Given the description of an element on the screen output the (x, y) to click on. 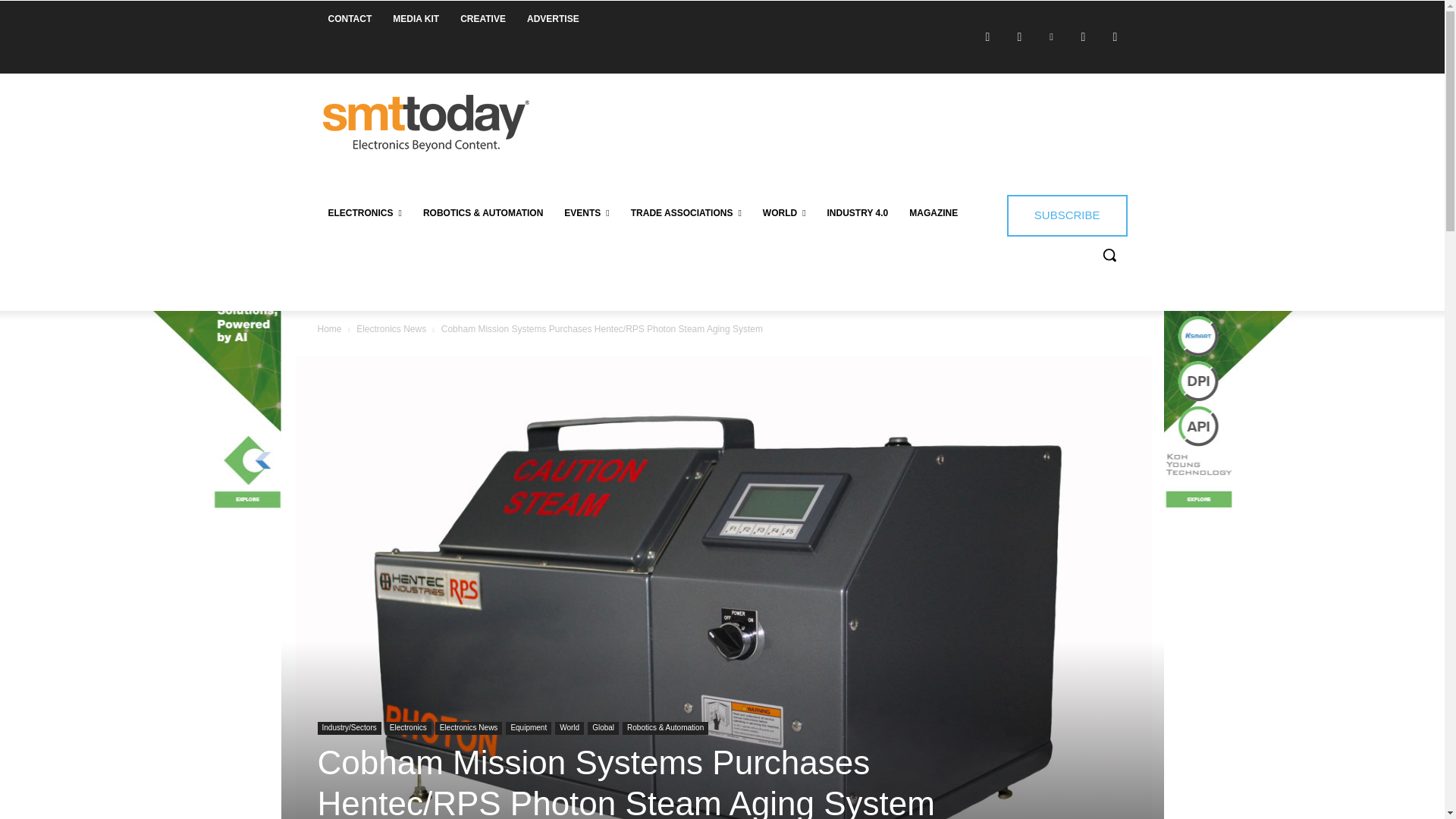
SMT Today  Electronics Beyond Content (426, 123)
SUBSCRIBE (1066, 215)
Linkedin (1050, 37)
Instagram (1018, 37)
Youtube (1114, 37)
MEDIA KIT (415, 18)
SMT Today  Electronics Beyond Content (425, 123)
Facebook (986, 37)
Twitter (1082, 37)
CONTACT (349, 18)
